Given the description of an element on the screen output the (x, y) to click on. 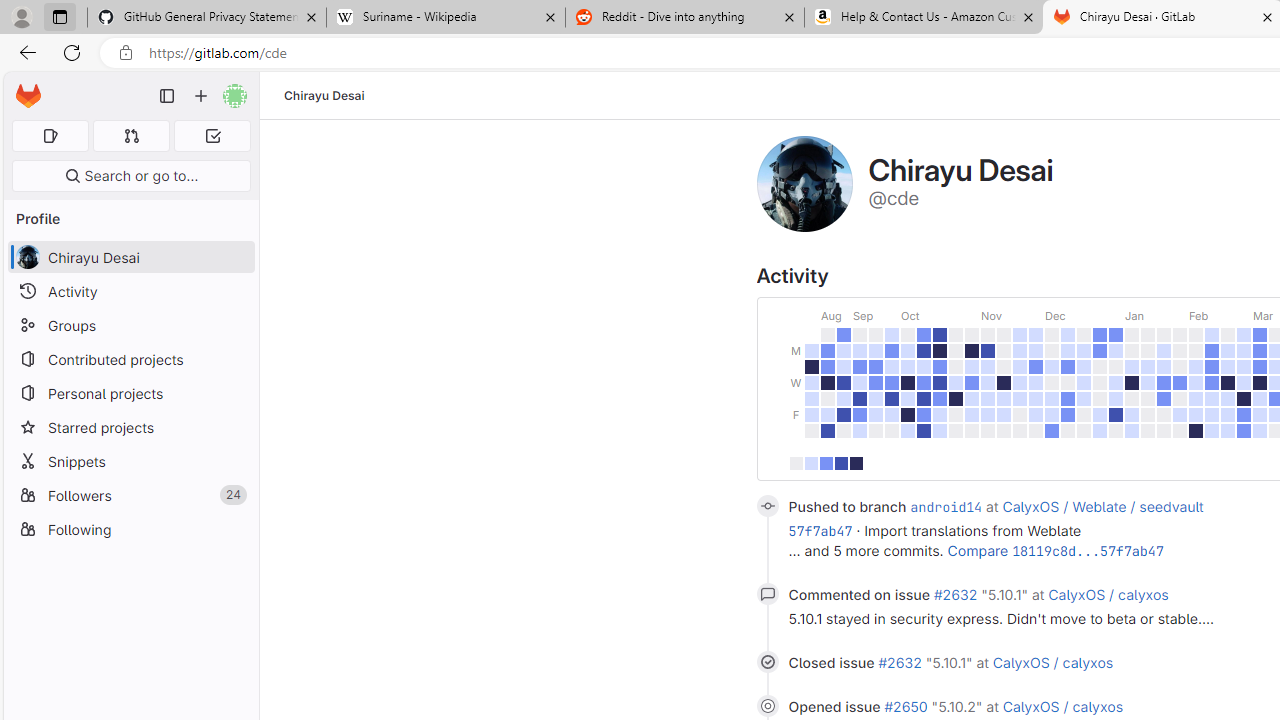
User profile picture (804, 183)
Personal projects (130, 393)
10-19 contributions (826, 463)
